Given the description of an element on the screen output the (x, y) to click on. 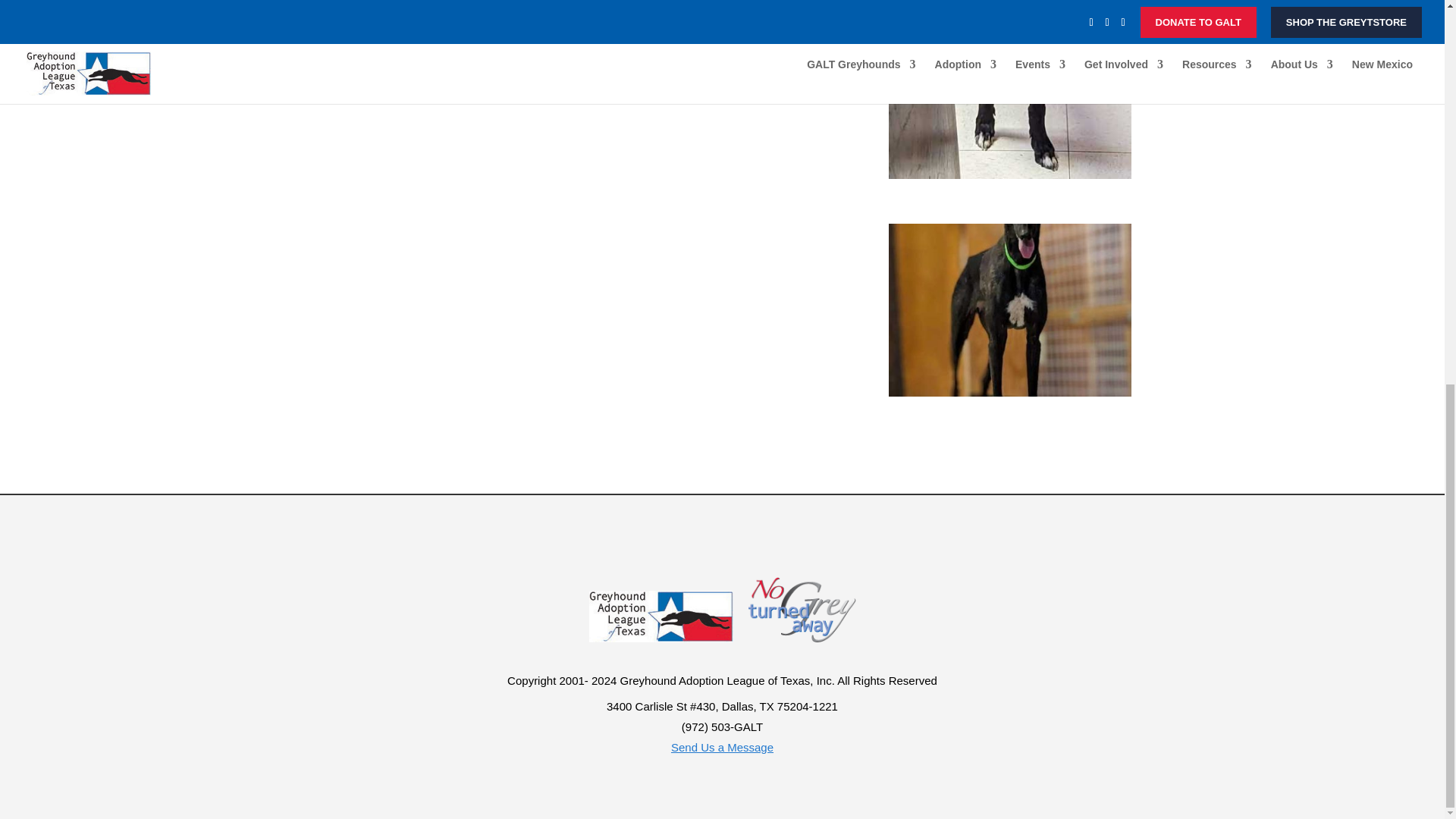
noelle1 (1009, 391)
noelle2 (1009, 174)
